Given the description of an element on the screen output the (x, y) to click on. 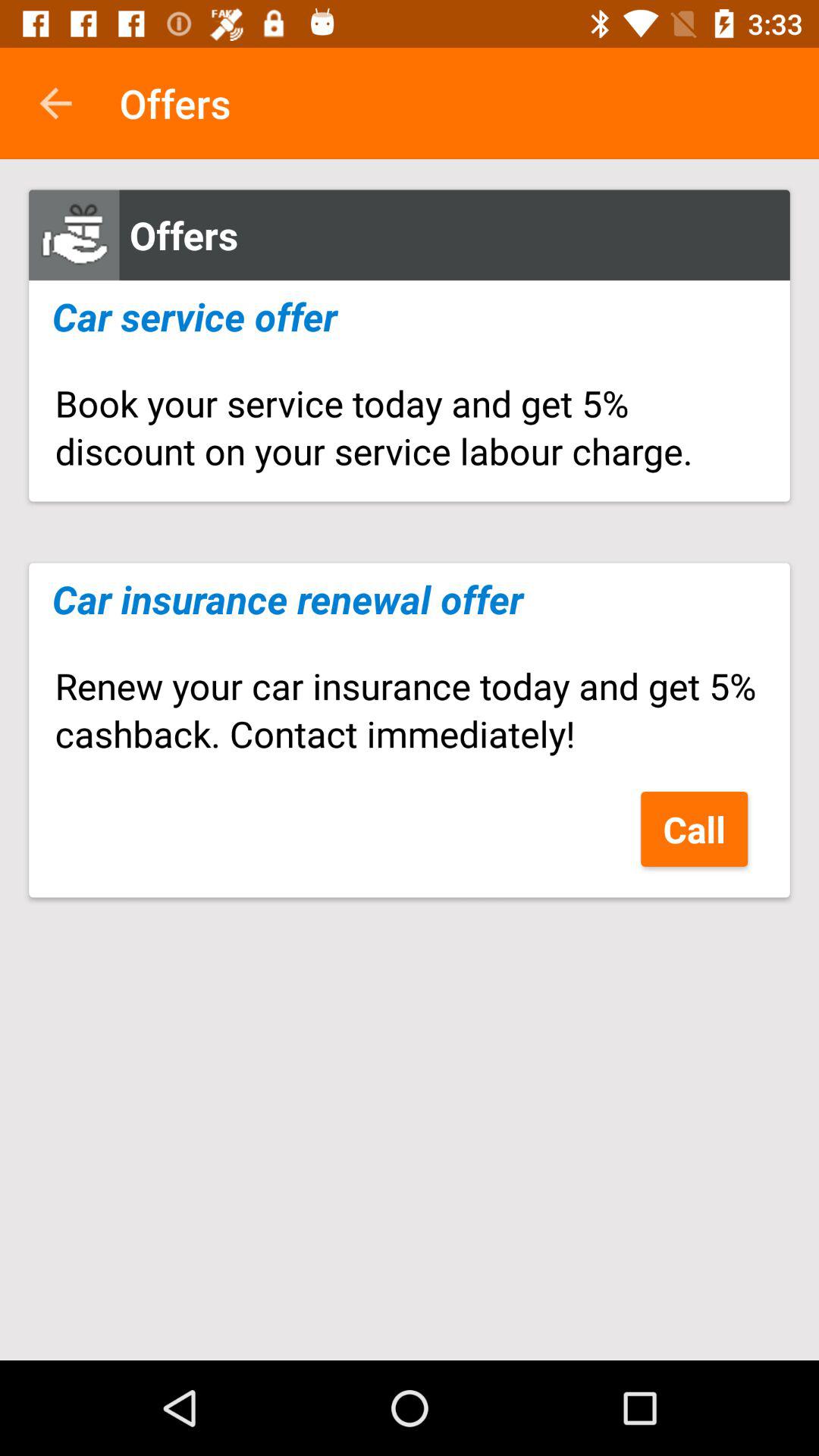
tap icon next to the offers app (55, 103)
